Given the description of an element on the screen output the (x, y) to click on. 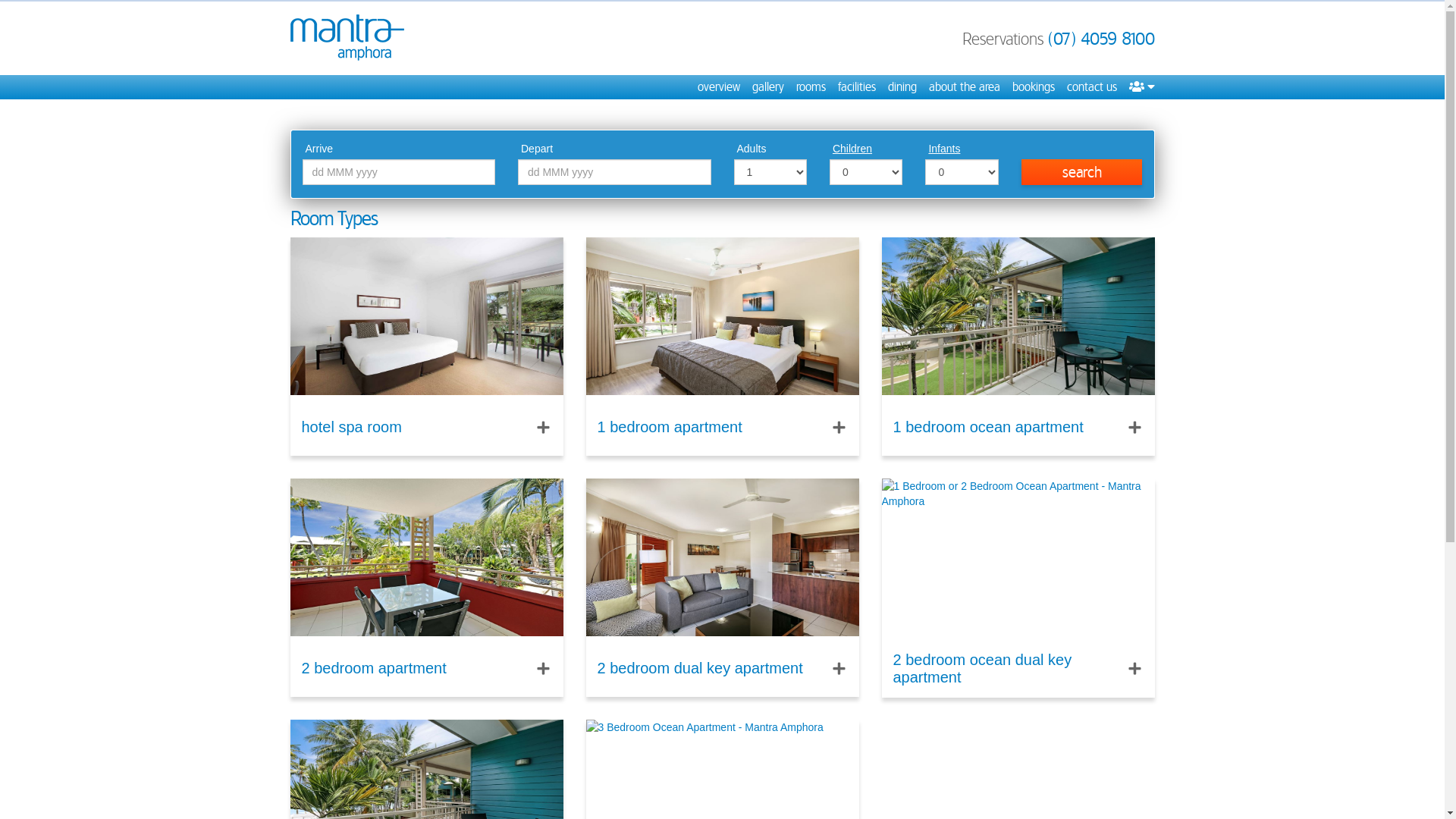
(07) 4059 8100 Element type: text (1101, 38)
about the area Element type: text (963, 87)
gallery Element type: text (768, 87)
overview Element type: text (718, 87)
bookings Element type: text (1032, 87)
facilities Element type: text (856, 87)
dining Element type: text (901, 87)
contact us Element type: text (1091, 87)
search Element type: text (1081, 172)
rooms Element type: text (810, 87)
Mantra Amphora Element type: hover (346, 37)
